Given the description of an element on the screen output the (x, y) to click on. 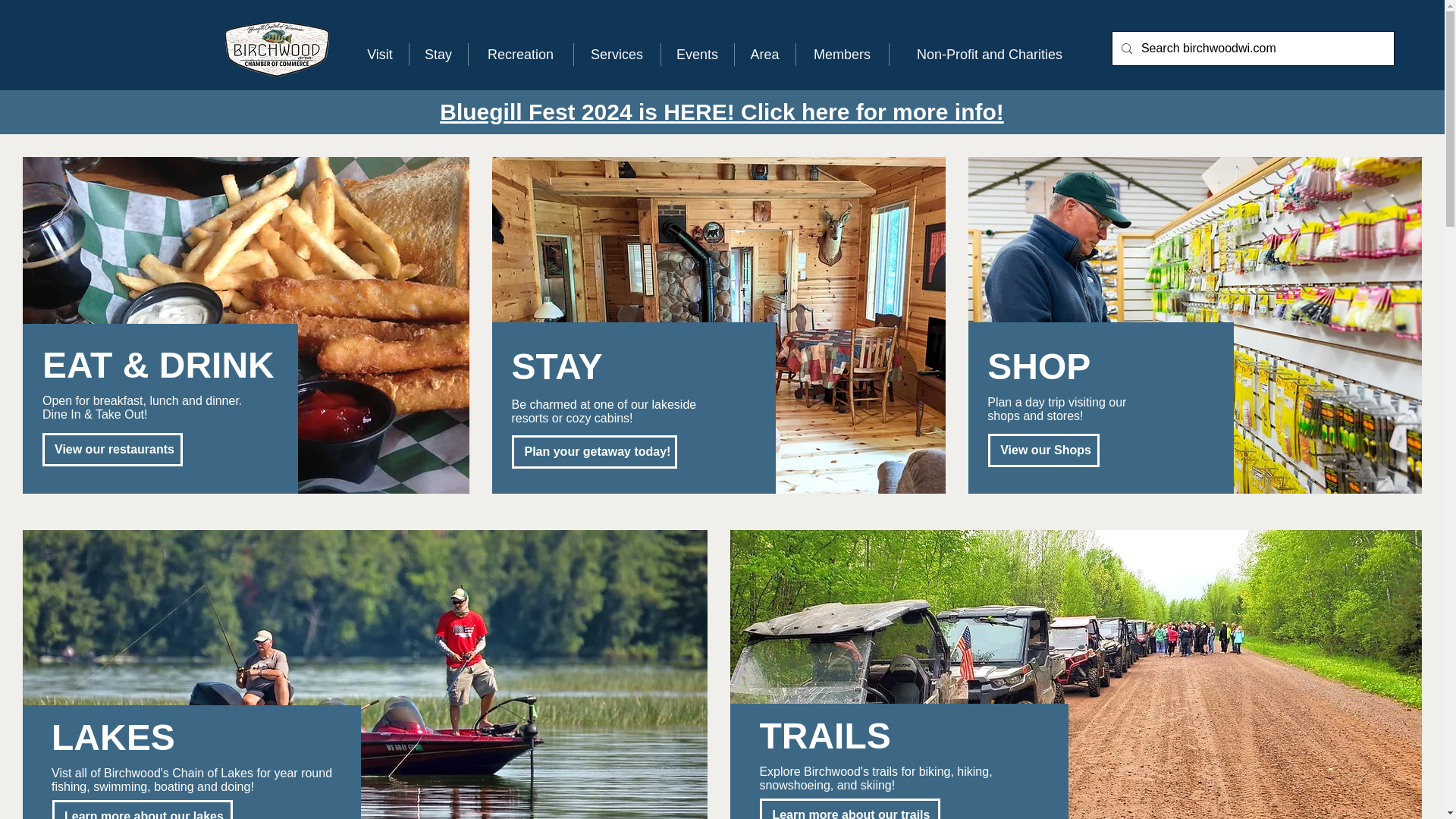
Events (696, 54)
View our restaurants (112, 449)
Recreation (519, 54)
Stay (437, 54)
View our Shops (1043, 450)
Learn more about our trails (850, 808)
Non-Profit and Charities (989, 54)
Services (617, 54)
Plan your getaway today! (594, 451)
Learn more about our lakes (142, 809)
Bluegill Fest 2024 is HERE! Click here for more info! (721, 111)
